Given the description of an element on the screen output the (x, y) to click on. 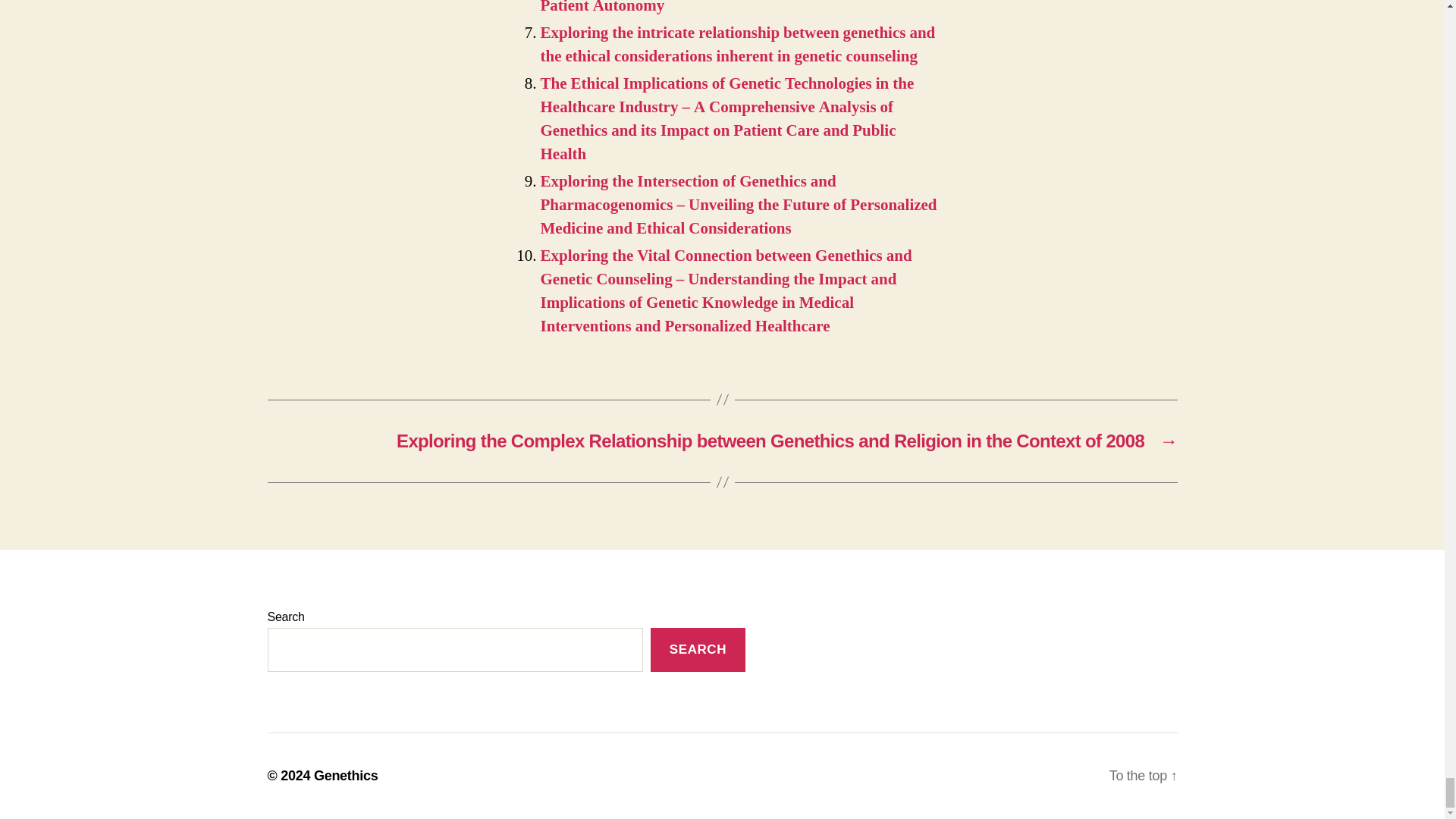
Genethics (346, 775)
SEARCH (697, 650)
